Given the description of an element on the screen output the (x, y) to click on. 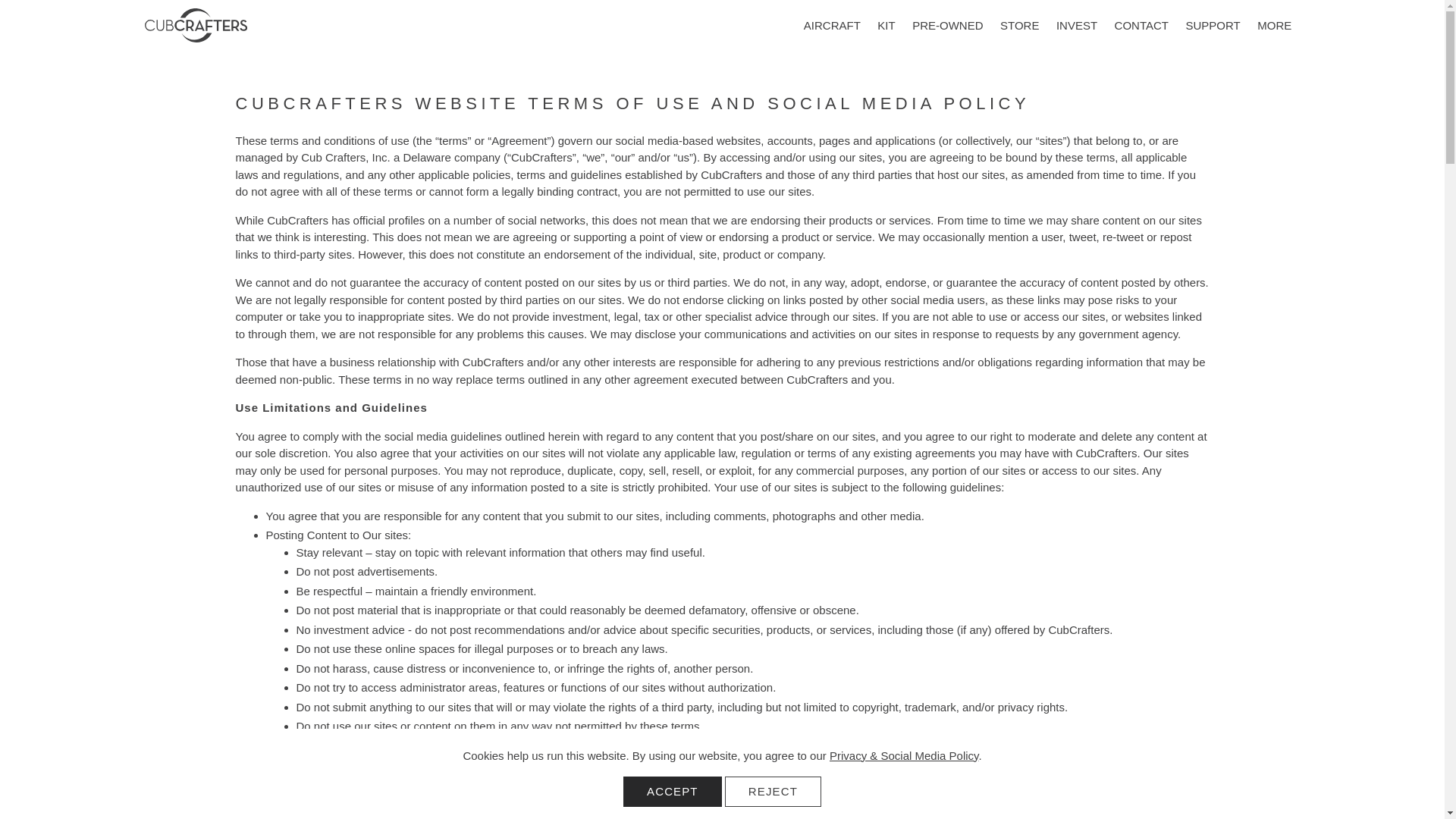
MORE (1274, 25)
CONTACT (1140, 25)
AIRCRAFT (831, 25)
INVEST (1077, 25)
PRE-OWNED (947, 25)
REJECT (773, 791)
ACCEPT (672, 791)
STORE (1019, 25)
SUPPORT (1212, 25)
